Given the description of an element on the screen output the (x, y) to click on. 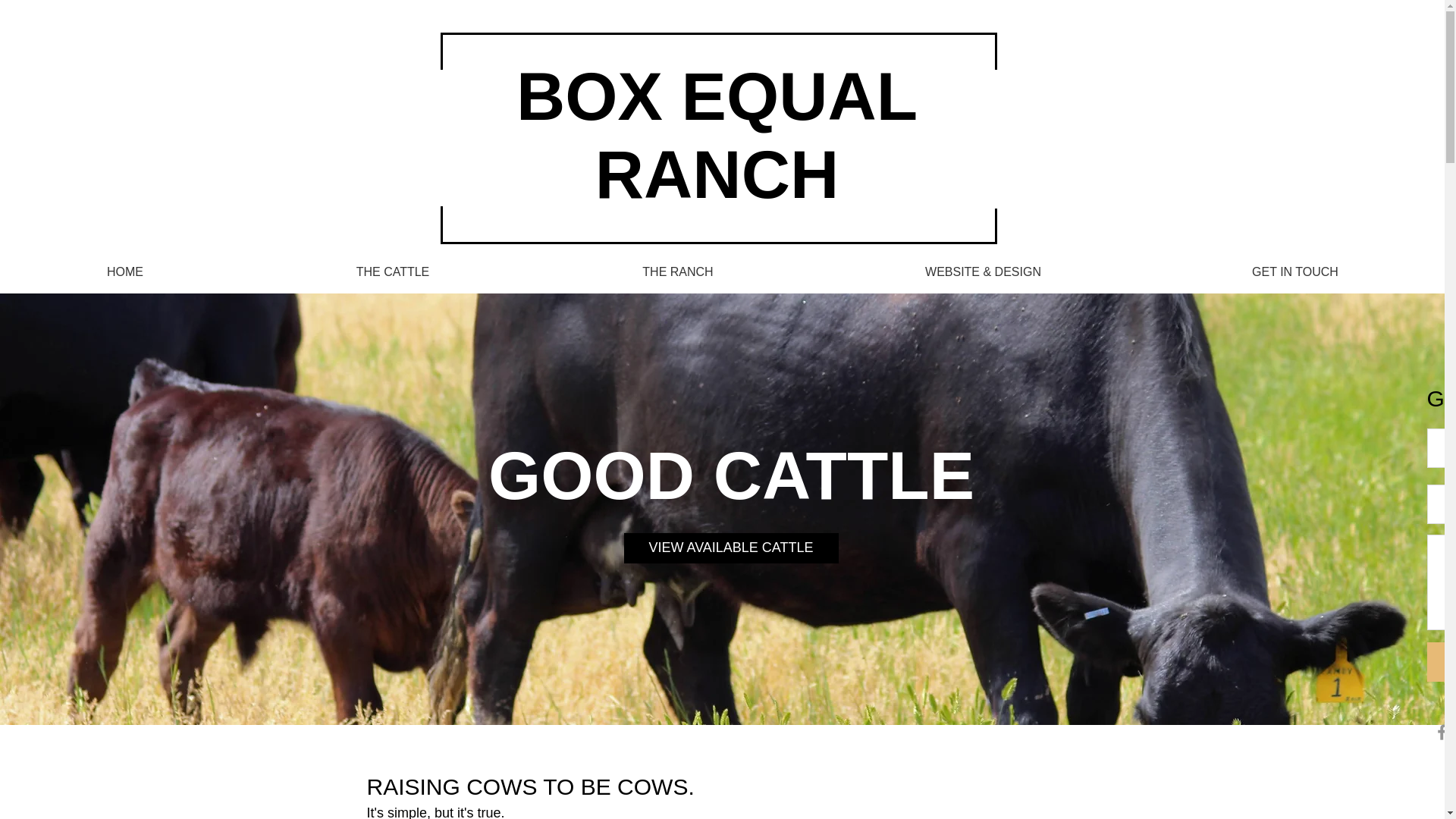
THE RANCH (678, 271)
HOME (125, 271)
THE CATTLE (392, 271)
VIEW AVAILABLE CATTLE (730, 548)
